Given the description of an element on the screen output the (x, y) to click on. 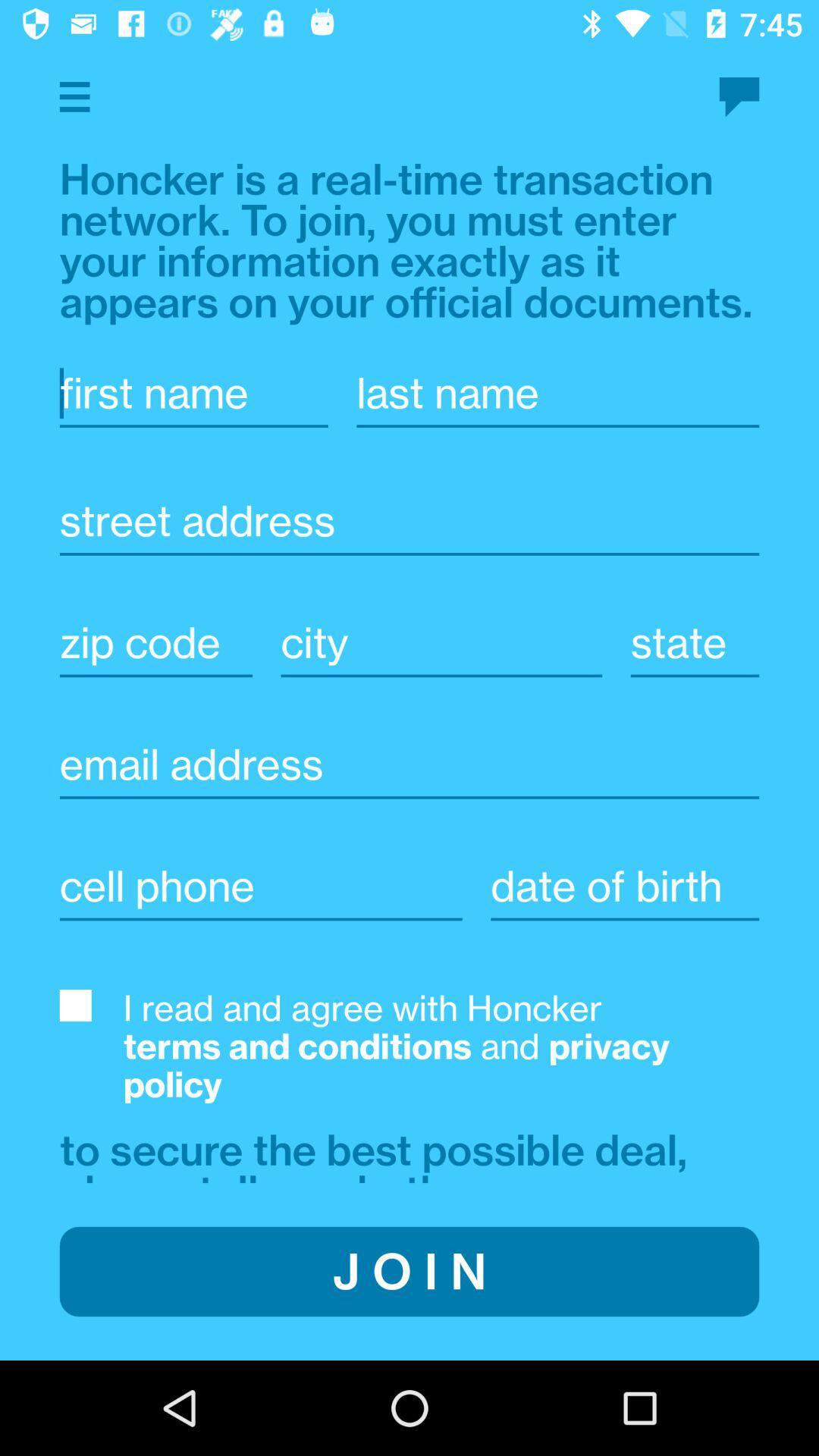
dropdown menu (74, 96)
